Given the description of an element on the screen output the (x, y) to click on. 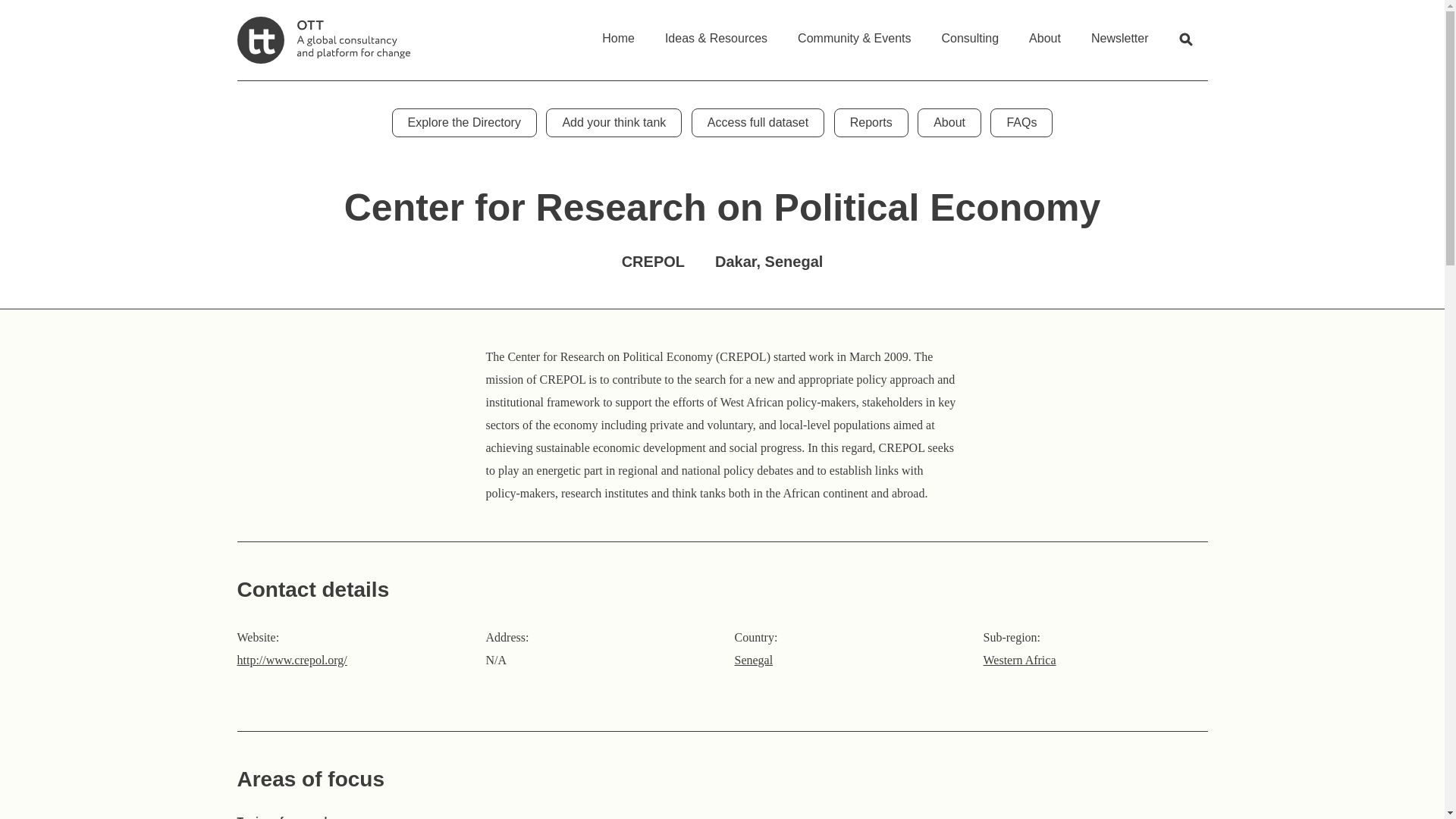
About (1044, 33)
Newsletter (1119, 33)
Explore the Directory (464, 122)
FAQs (1021, 122)
Go to homepage (322, 39)
Home (617, 33)
Western Africa (1018, 659)
About (949, 122)
Senegal (753, 659)
Access full dataset (757, 122)
